Given the description of an element on the screen output the (x, y) to click on. 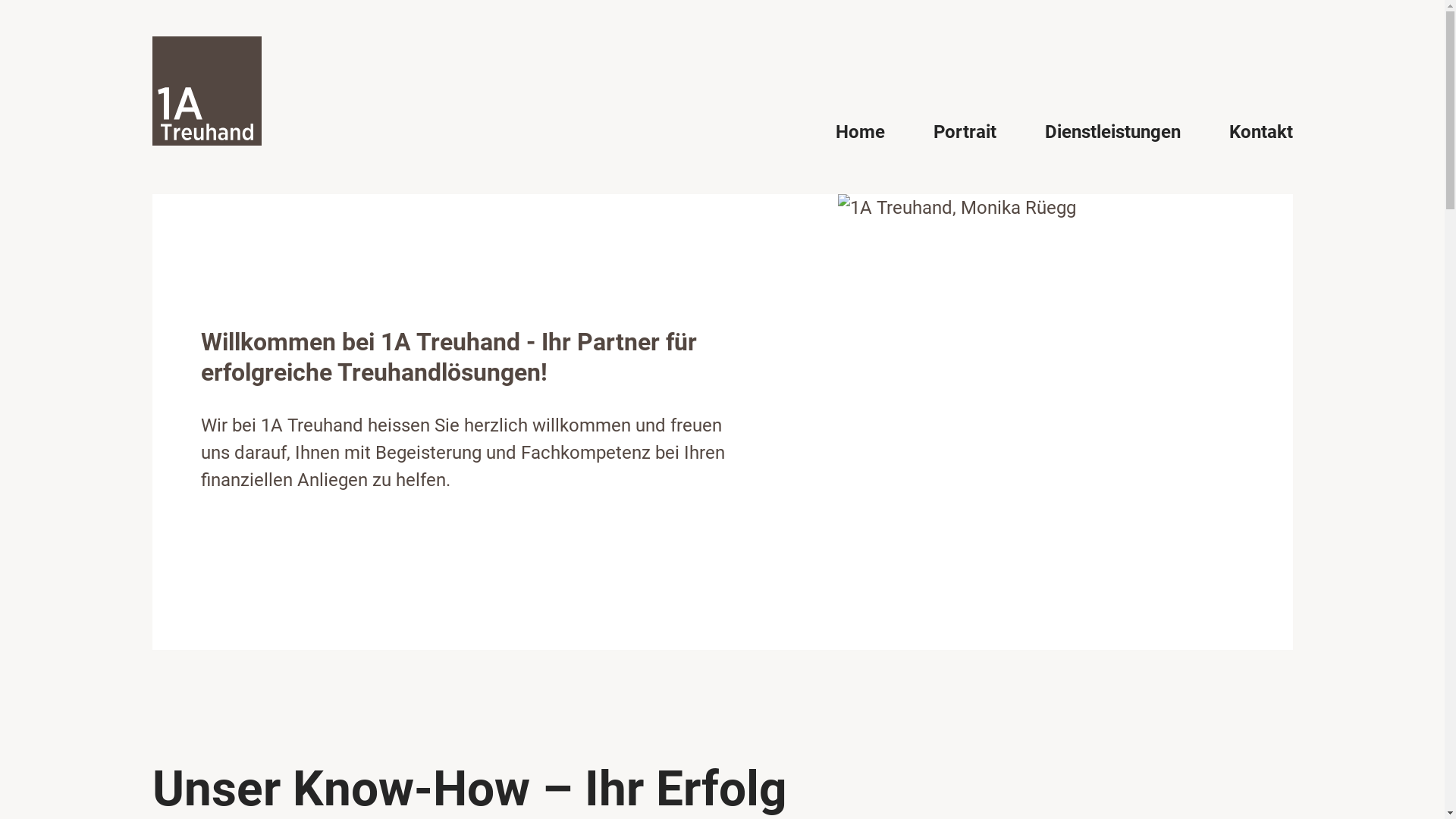
Portrait Element type: text (963, 131)
Home Element type: text (859, 131)
Kontakt Element type: text (1260, 131)
1A Treuhand - zur Startseite Element type: text (205, 90)
Dienstleistungen Element type: text (1112, 131)
